Given the description of an element on the screen output the (x, y) to click on. 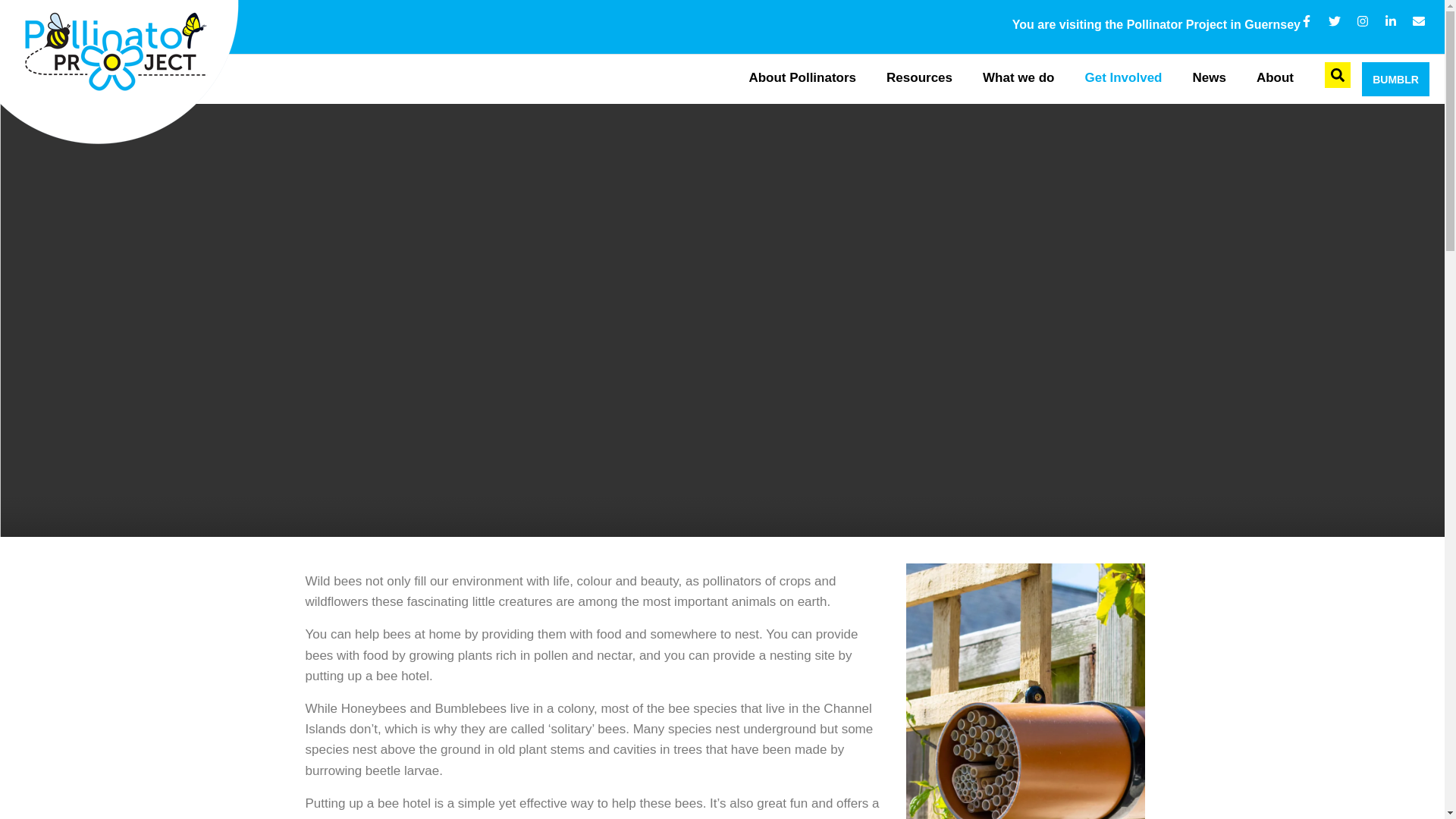
Get Involved (1122, 78)
About (1274, 78)
What we do (1018, 78)
News (1208, 78)
Resources (919, 78)
About Pollinators (801, 78)
